Given the description of an element on the screen output the (x, y) to click on. 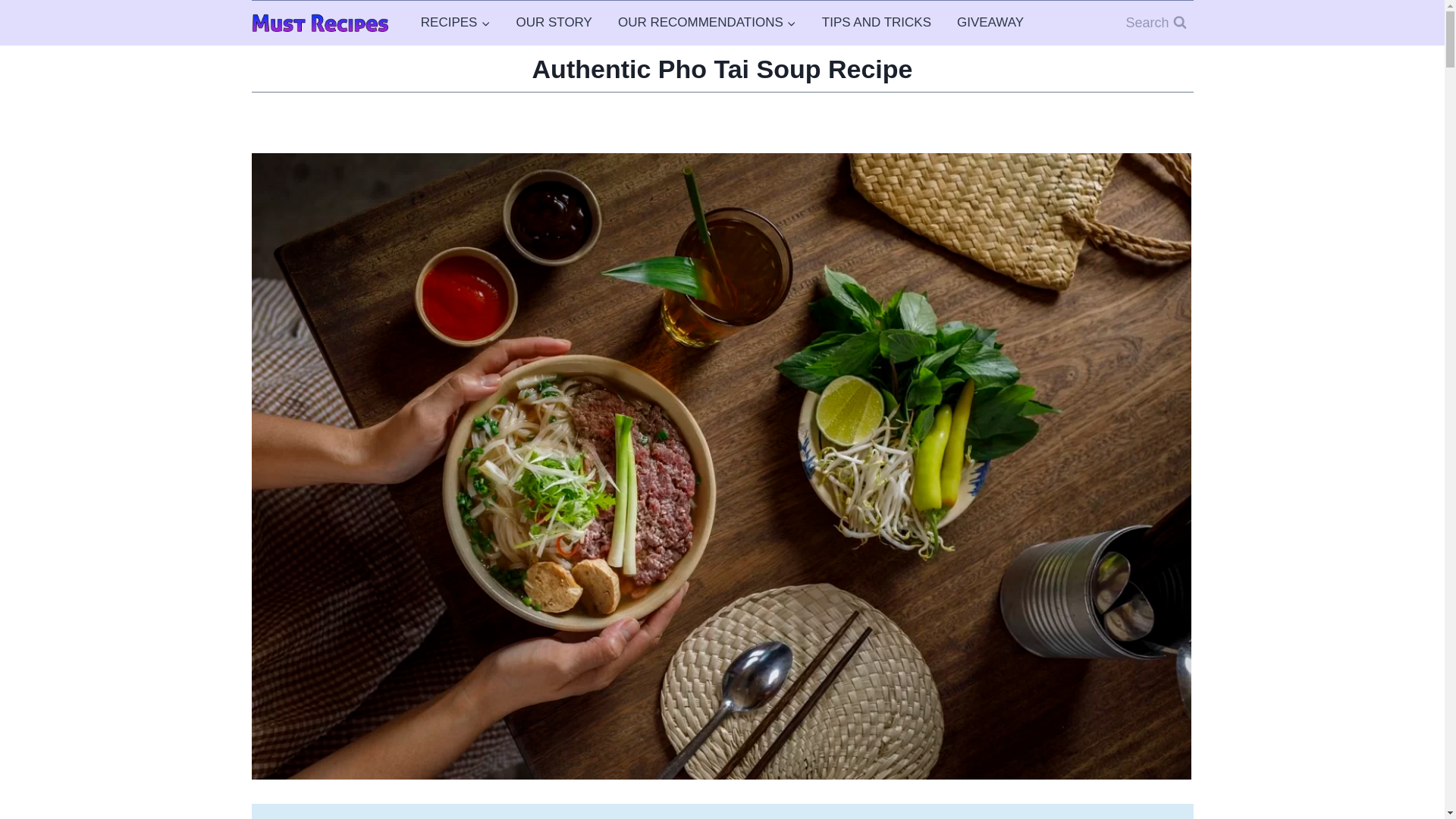
OUR STORY (553, 22)
OUR RECOMMENDATIONS (707, 22)
RECIPES (455, 22)
GIVEAWAY (989, 22)
Search (1155, 22)
TIPS AND TRICKS (876, 22)
